Given the description of an element on the screen output the (x, y) to click on. 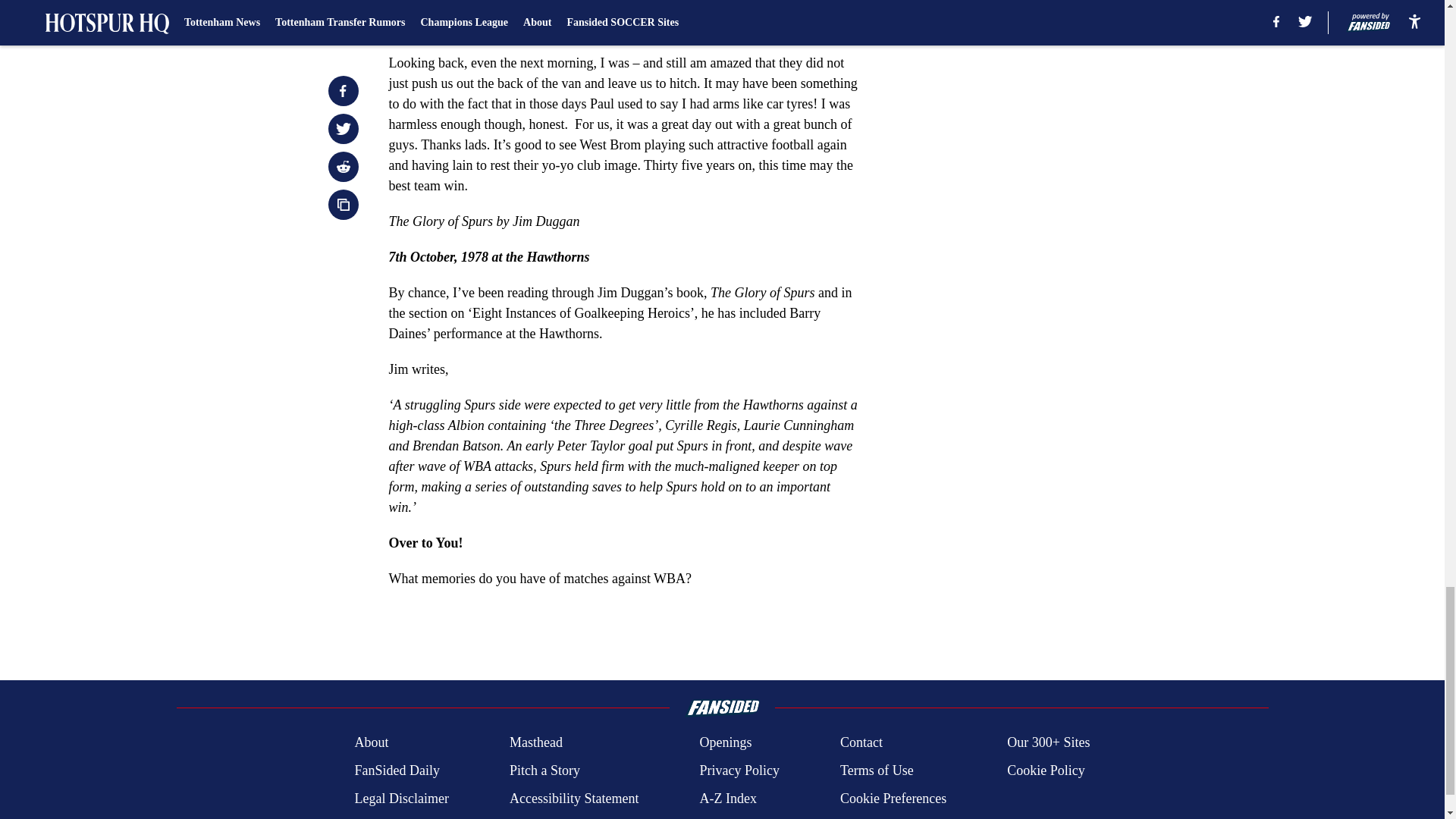
Masthead (535, 742)
Cookie Policy (1045, 770)
Accessibility Statement (574, 798)
Contact (861, 742)
About (370, 742)
Pitch a Story (544, 770)
Legal Disclaimer (400, 798)
Privacy Policy (738, 770)
Terms of Use (877, 770)
FanSided Daily (396, 770)
Openings (724, 742)
A-Z Index (726, 798)
Cookie Preferences (893, 798)
